Given the description of an element on the screen output the (x, y) to click on. 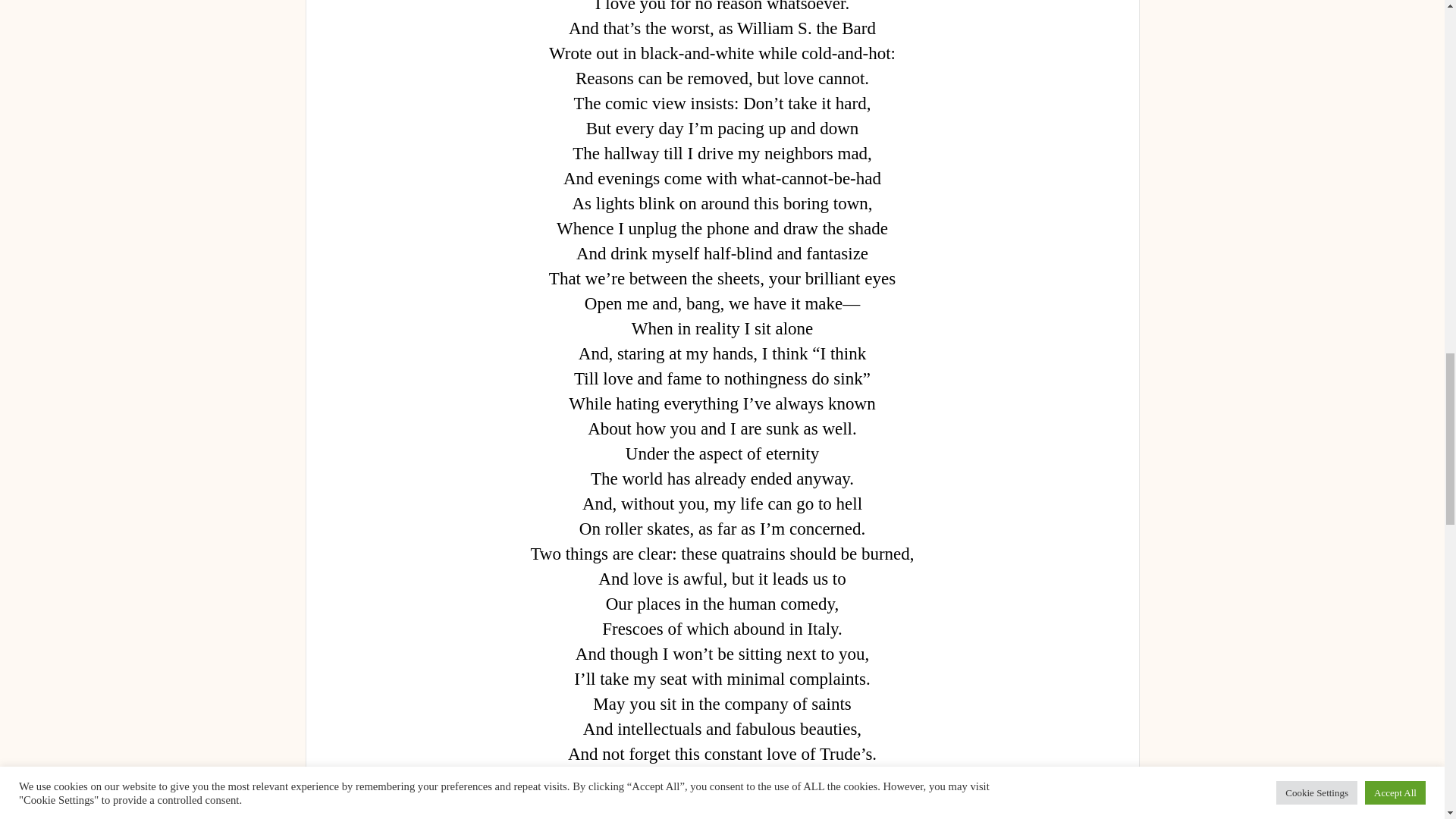
Click to share on Reddit (742, 811)
Click to share on Twitter (526, 811)
Click to print (462, 811)
Click to email a link to a friend (400, 811)
Click to share on Facebook (817, 811)
Click to share on Pocket (595, 811)
Click to share on Pinterest (668, 811)
